Given the description of an element on the screen output the (x, y) to click on. 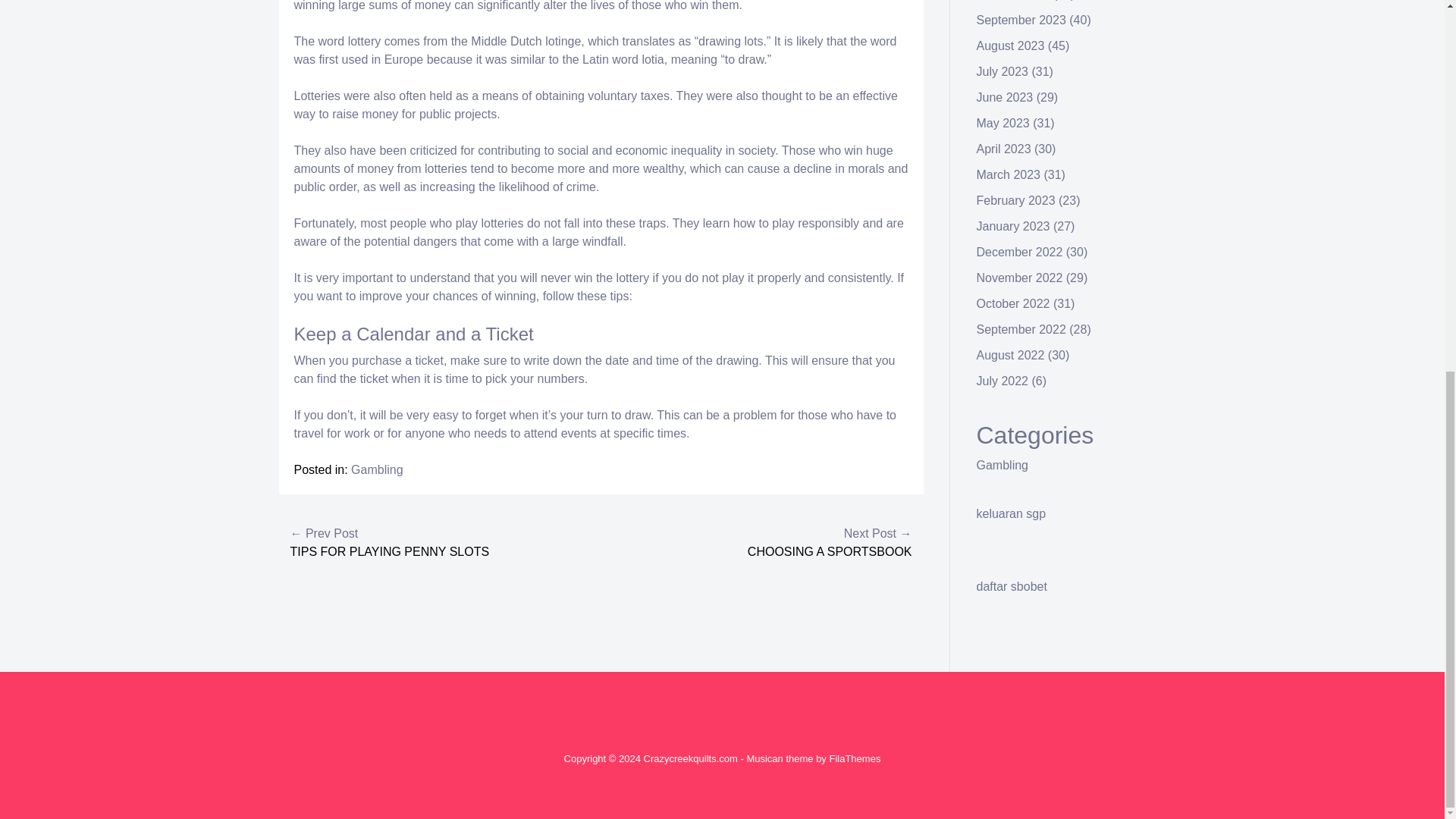
June 2023 (1004, 97)
March 2023 (1008, 174)
Crazycreekquilts.com (690, 758)
September 2023 (1020, 19)
January 2023 (1012, 226)
November 2022 (1019, 277)
July 2022 (1002, 380)
Gambling (376, 469)
October 2023 (1012, 0)
Gambling (1001, 464)
May 2023 (1002, 123)
August 2023 (1010, 45)
September 2022 (1020, 328)
December 2022 (1019, 251)
July 2023 (1002, 71)
